Given the description of an element on the screen output the (x, y) to click on. 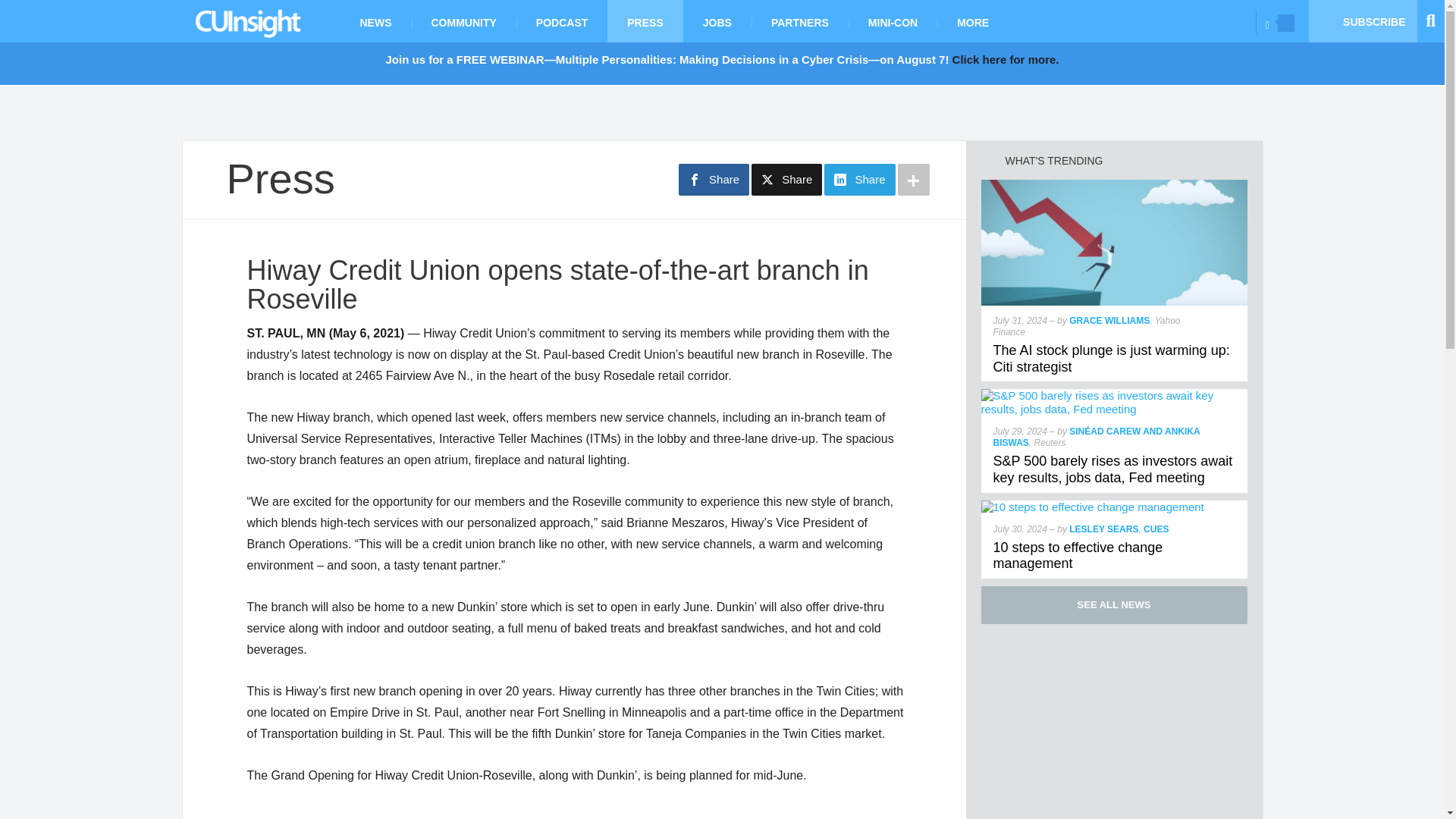
PARTNERS (799, 21)
10 steps to effective change management (1092, 506)
Opener (1286, 22)
The AI stock plunge is just warming up: Citi strategist (1111, 358)
COMMUNITY (462, 21)
SUBSCRIBE (1362, 21)
JOBS (716, 21)
NEWS (374, 21)
PRESS (644, 21)
Share (859, 179)
PODCAST (561, 21)
MORE (973, 21)
Share (713, 179)
The AI stock plunge is just warming up: Citi strategist (1114, 185)
10 steps to effective change management (1077, 555)
